Given the description of an element on the screen output the (x, y) to click on. 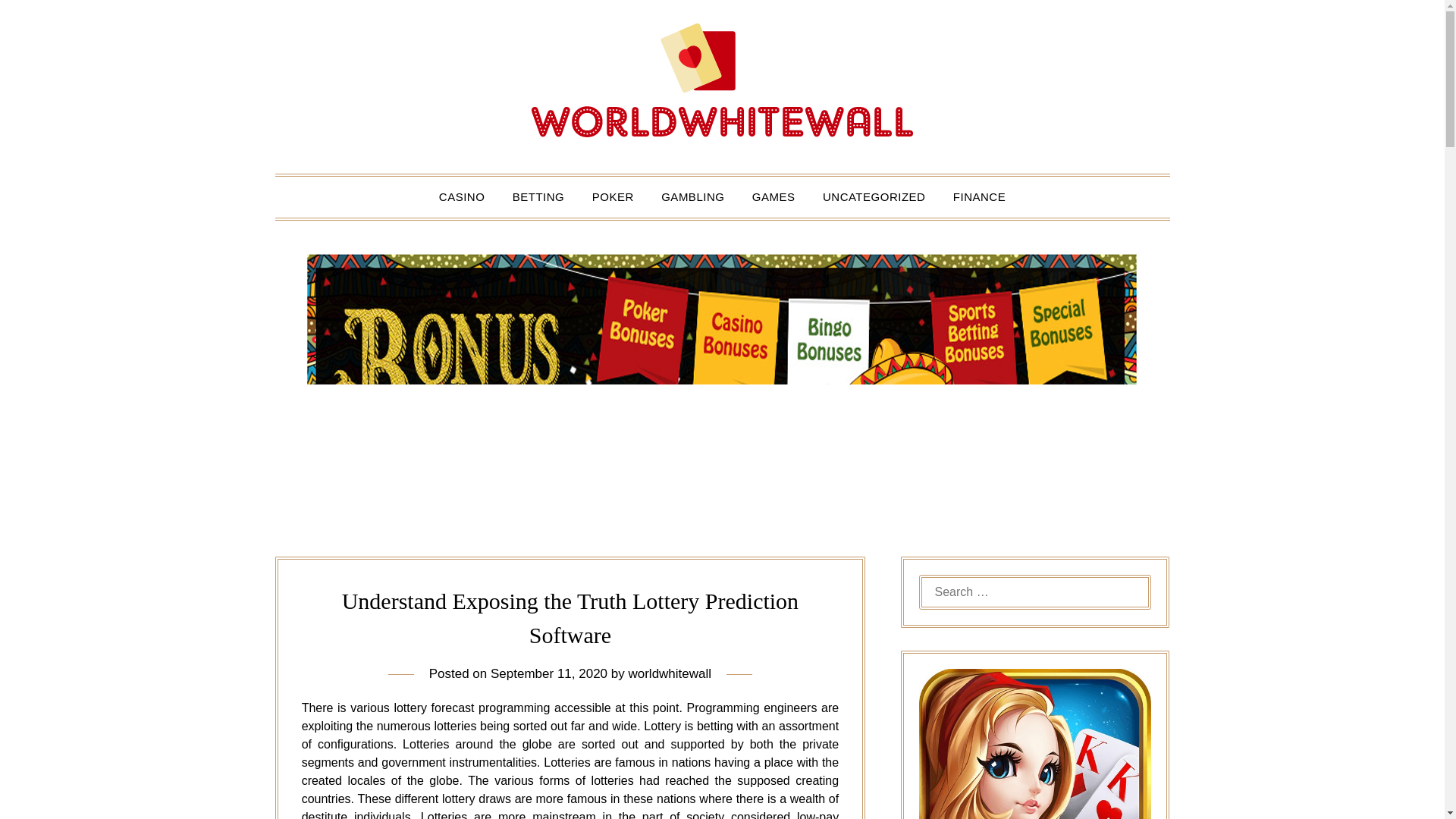
Search (38, 22)
BETTING (538, 196)
GAMES (773, 196)
FINANCE (978, 196)
worldwhitewall (669, 673)
POKER (612, 196)
GAMBLING (692, 196)
September 11, 2020 (548, 673)
UNCATEGORIZED (873, 196)
CASINO (461, 196)
